Given the description of an element on the screen output the (x, y) to click on. 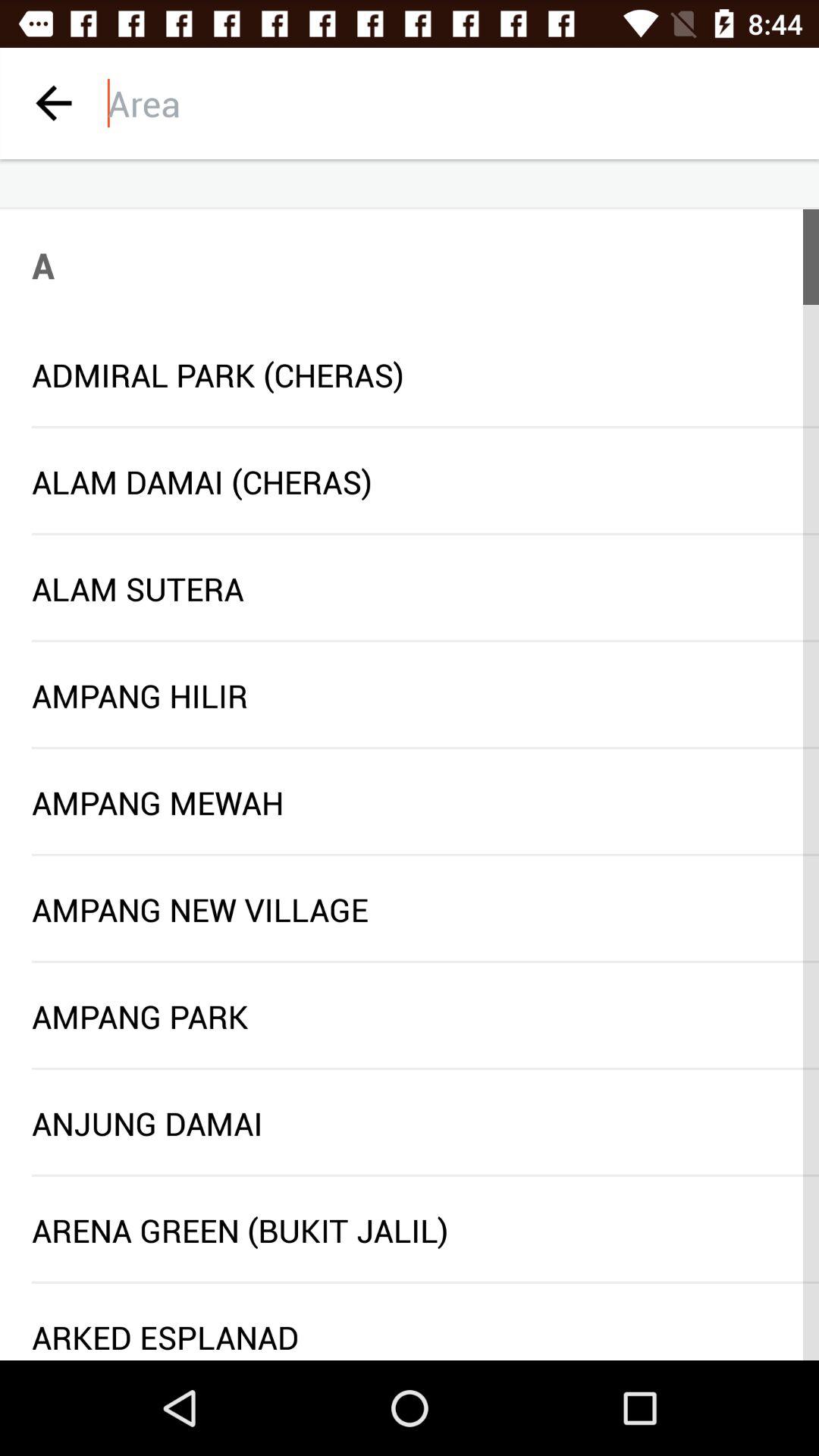
go back (53, 103)
